Given the description of an element on the screen output the (x, y) to click on. 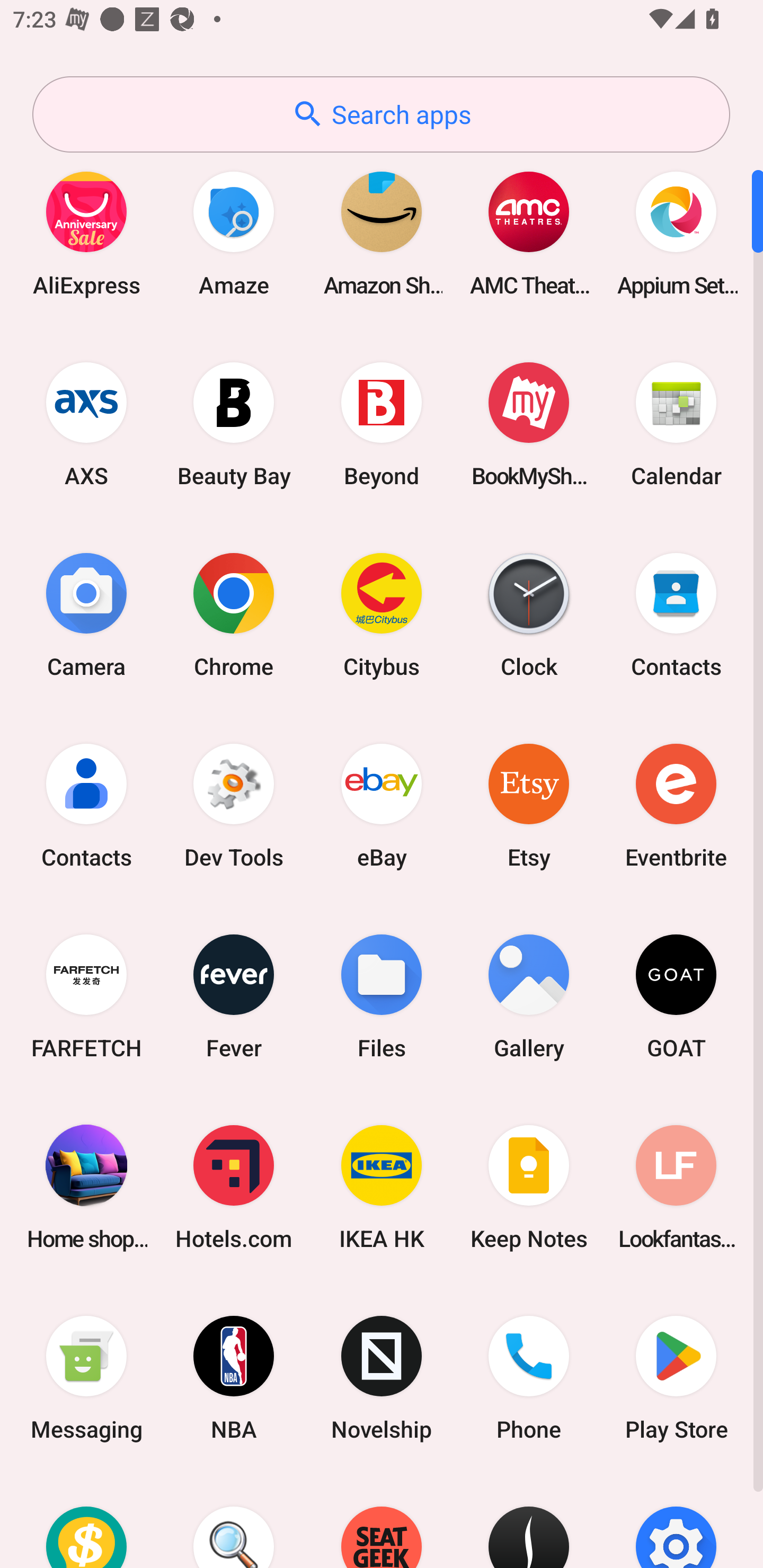
  Search apps (381, 114)
AliExpress (86, 233)
Amaze (233, 233)
Amazon Shopping (381, 233)
AMC Theatres (528, 233)
Appium Settings (676, 233)
AXS (86, 424)
Beauty Bay (233, 424)
Beyond (381, 424)
BookMyShow (528, 424)
Calendar (676, 424)
Camera (86, 614)
Chrome (233, 614)
Citybus (381, 614)
Clock (528, 614)
Contacts (676, 614)
Contacts (86, 805)
Dev Tools (233, 805)
eBay (381, 805)
Etsy (528, 805)
Eventbrite (676, 805)
FARFETCH (86, 996)
Fever (233, 996)
Files (381, 996)
Gallery (528, 996)
GOAT (676, 996)
Home shopping (86, 1186)
Hotels.com (233, 1186)
IKEA HK (381, 1186)
Keep Notes (528, 1186)
Lookfantastic (676, 1186)
Messaging (86, 1377)
NBA (233, 1377)
Novelship (381, 1377)
Phone (528, 1377)
Play Store (676, 1377)
